Given the description of an element on the screen output the (x, y) to click on. 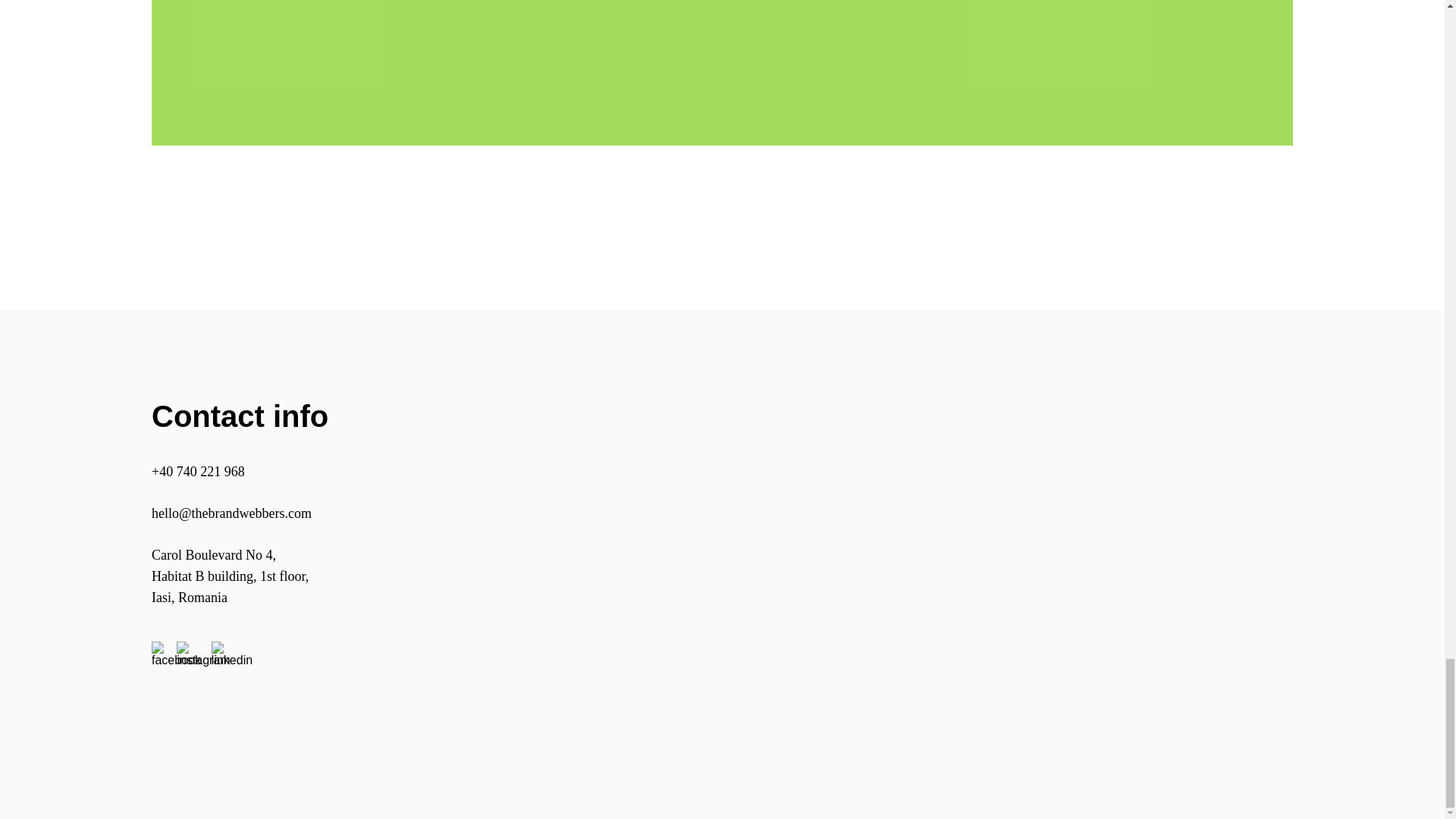
Next project (721, 141)
